Given the description of an element on the screen output the (x, y) to click on. 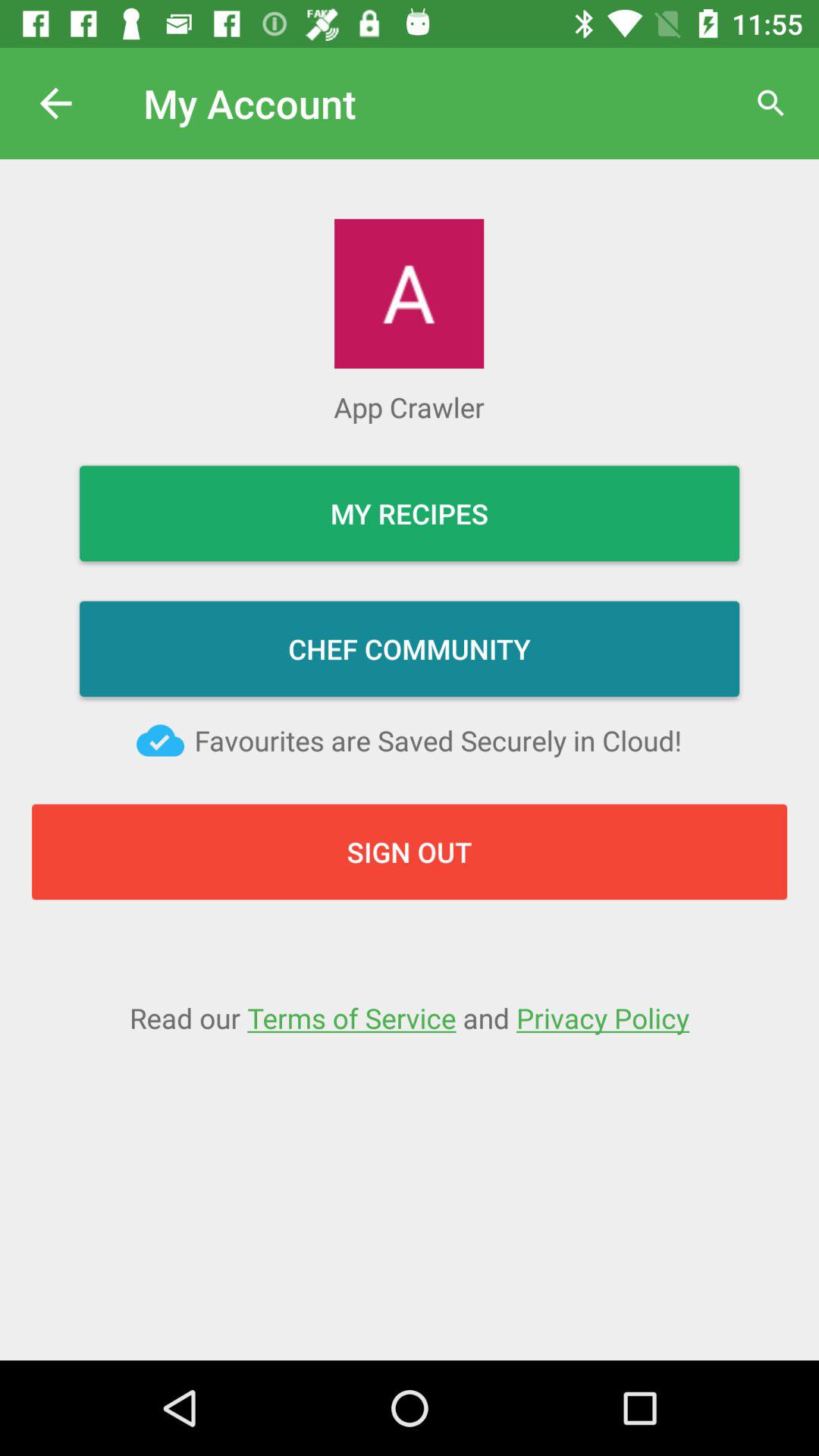
click on sign out button (409, 852)
click the sign out button on the web page (210, 844)
click on the button below the text app crawler (409, 512)
click on the button above app crawler (409, 293)
select the icon above the sign out button on the web page (160, 740)
